Given the description of an element on the screen output the (x, y) to click on. 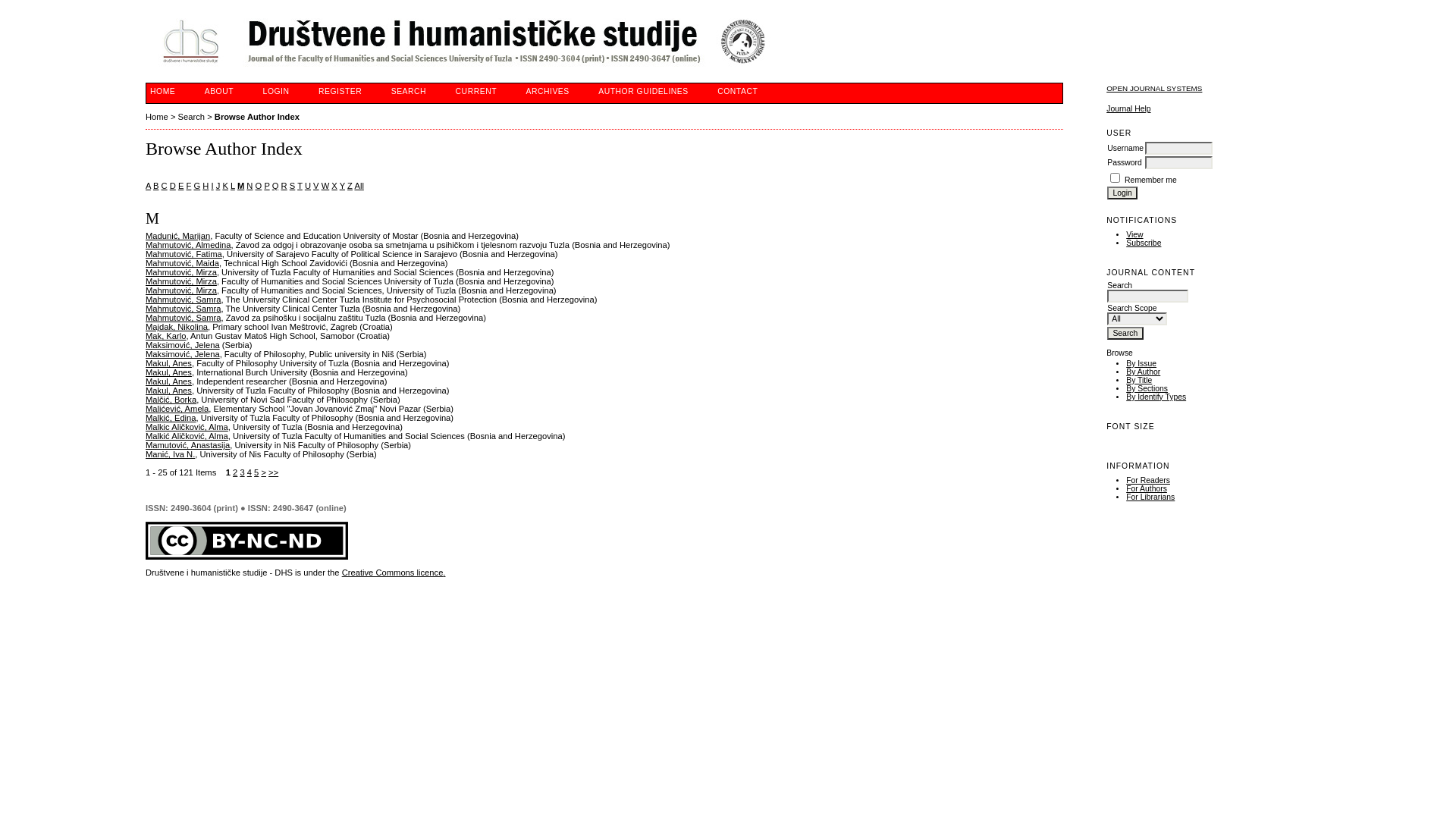
Mak, Karlo Element type: text (165, 335)
For Librarians Element type: text (1150, 496)
F Element type: text (188, 185)
Y Element type: text (342, 185)
2 Element type: text (234, 471)
A Element type: text (147, 185)
ARCHIVES Element type: text (546, 91)
M Element type: text (240, 185)
G Element type: text (196, 185)
By Title Element type: text (1138, 380)
Z Element type: text (349, 185)
CURRENT Element type: text (475, 91)
P Element type: text (266, 185)
I Element type: text (211, 185)
U Element type: text (307, 185)
3 Element type: text (241, 471)
Browse Author Index Element type: text (256, 116)
Login Element type: text (1122, 192)
Subscribe Element type: text (1143, 242)
OPEN JOURNAL SYSTEMS Element type: text (1153, 88)
Search Element type: text (191, 116)
View Element type: text (1134, 234)
R Element type: text (284, 185)
N Element type: text (249, 185)
J Element type: text (218, 185)
B Element type: text (155, 185)
Journal Help Element type: text (1128, 108)
X Element type: text (333, 185)
Makul, Anes Element type: text (168, 390)
Search Element type: text (1124, 332)
REGISTER Element type: text (339, 91)
For Authors Element type: text (1146, 488)
AUTHOR GUIDELINES Element type: text (643, 91)
CONTACT Element type: text (737, 91)
. Element type: text (443, 572)
SEARCH Element type: text (408, 91)
LOGIN Element type: text (276, 91)
>> Element type: text (273, 471)
V Element type: text (315, 185)
By Identify Types Element type: text (1156, 396)
By Sections Element type: text (1146, 388)
5 Element type: text (256, 471)
L Element type: text (232, 185)
Home Element type: text (156, 116)
Q Element type: text (275, 185)
Makul, Anes Element type: text (168, 371)
ABOUT Element type: text (218, 91)
4 Element type: text (249, 471)
> Element type: text (263, 471)
W Element type: text (325, 185)
Makul, Anes Element type: text (168, 362)
By Issue Element type: text (1141, 363)
By Author Element type: text (1143, 371)
All Element type: text (358, 185)
D Element type: text (172, 185)
For Readers Element type: text (1148, 480)
H Element type: text (205, 185)
Creative Commons licence Element type: text (392, 572)
E Element type: text (180, 185)
T Element type: text (299, 185)
Makul, Anes Element type: text (168, 380)
HOME Element type: text (162, 91)
C Element type: text (164, 185)
Majdak, Nikolina Element type: text (176, 326)
S Element type: text (291, 185)
K Element type: text (224, 185)
O Element type: text (258, 185)
